Given the description of an element on the screen output the (x, y) to click on. 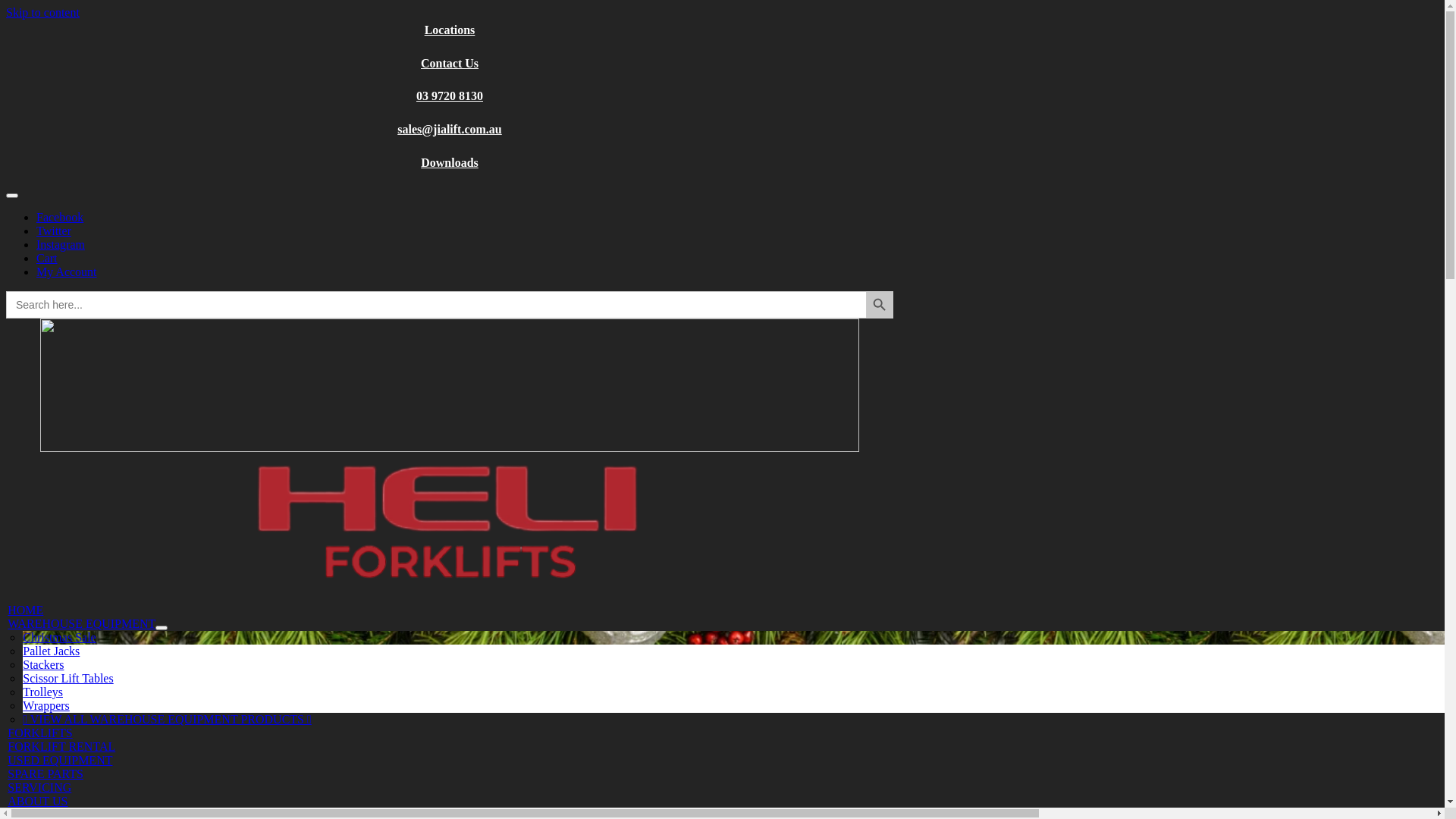
HOME Element type: text (25, 609)
Wrappers Element type: text (45, 705)
Twitter Element type: text (53, 230)
SERVICING Element type: text (39, 787)
FORKLIFT RENTAL Element type: text (61, 746)
Cart Element type: text (46, 257)
Facebook Element type: text (59, 216)
Locations Element type: text (449, 29)
My Account Element type: text (66, 271)
SPARE PARTS Element type: text (45, 773)
sales@jialift.com.au Element type: text (449, 128)
Trolleys Element type: text (42, 691)
03 9720 8130 Element type: text (449, 95)
Downloads Element type: text (449, 162)
WAREHOUSE EQUIPMENT Element type: text (81, 623)
Stackers Element type: text (42, 664)
Pallet Jacks Element type: text (50, 650)
Scissor Lift Tables Element type: text (67, 677)
ABOUT US Element type: text (37, 800)
Skip to content Element type: text (42, 12)
USED EQUIPMENT Element type: text (59, 759)
Contact Us Element type: text (449, 62)
Instagram Element type: text (60, 244)
FORKLIFTS Element type: text (39, 732)
Christmas Sale Element type: text (58, 636)
Search Button Element type: text (879, 304)
